Given the description of an element on the screen output the (x, y) to click on. 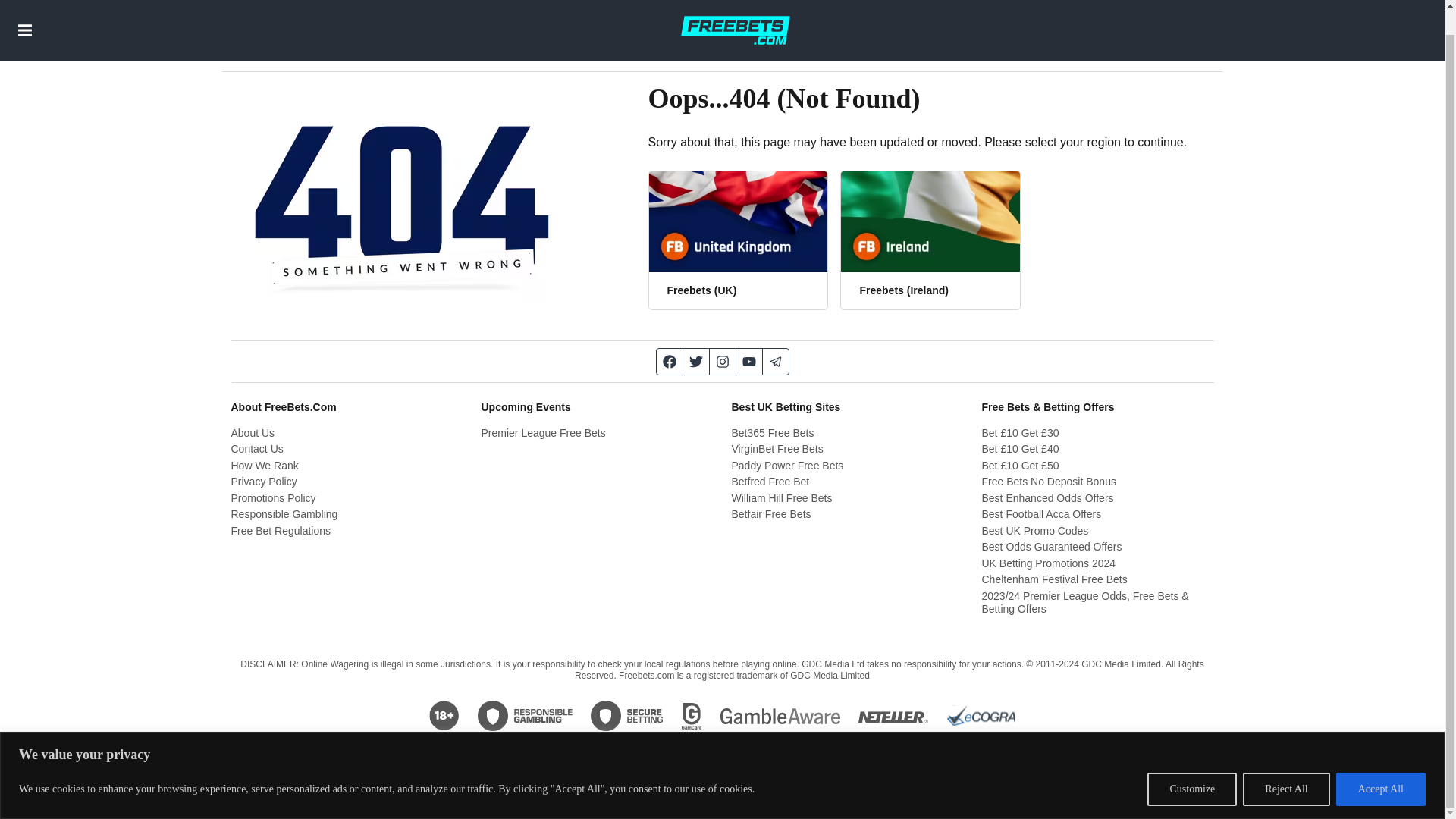
Accept All (1380, 763)
Twitter feed (695, 361)
Telegram (775, 361)
Instagram page (723, 361)
Youtube page (748, 361)
Customize (1191, 763)
Reject All (1286, 763)
FreeBets Logo (735, 16)
Facebook page (669, 361)
